Given the description of an element on the screen output the (x, y) to click on. 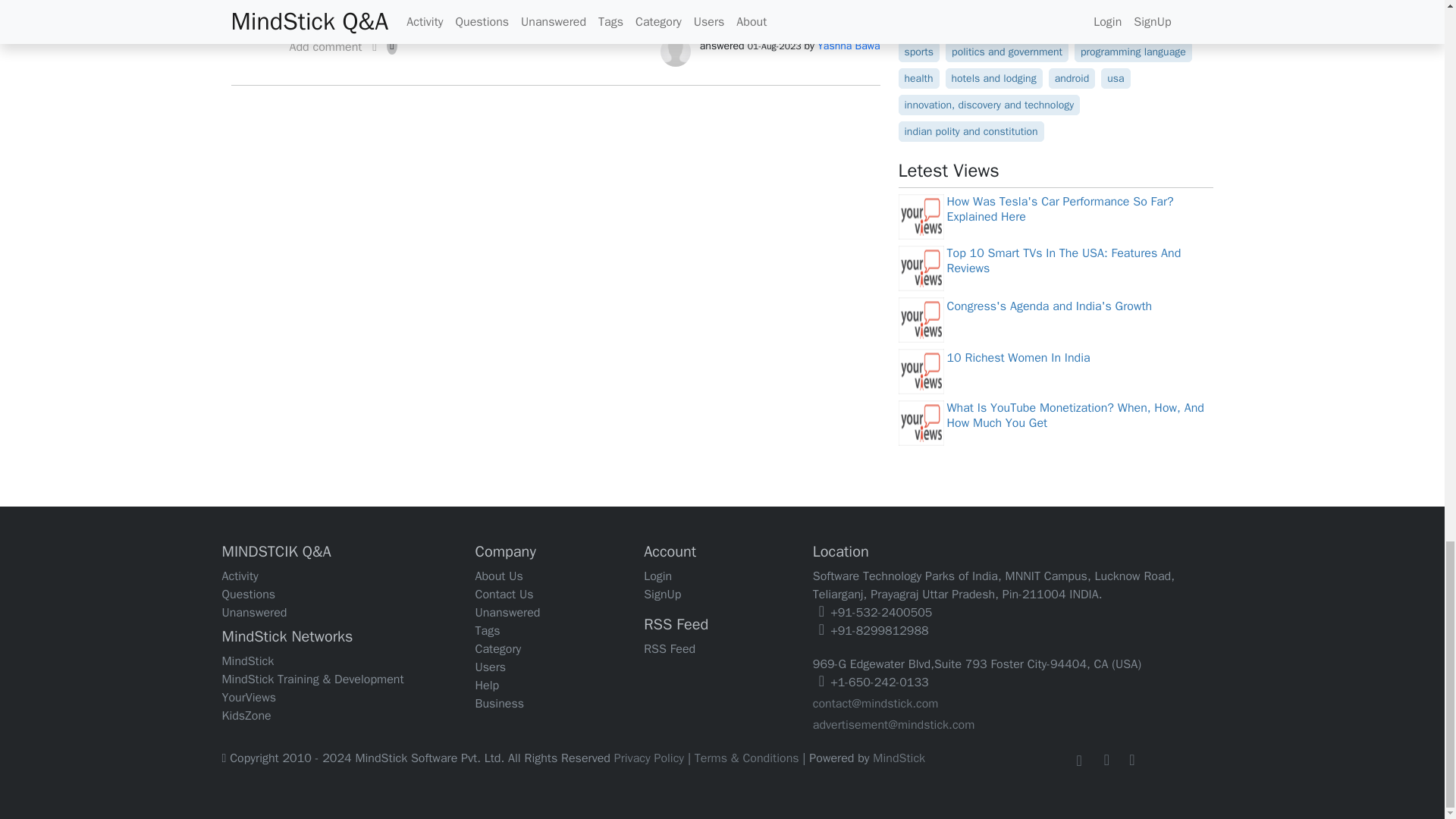
Yashna Bawa (675, 50)
Add a comment on this answer (325, 51)
Add comment (325, 51)
Yashna Bawa (847, 45)
